Given the description of an element on the screen output the (x, y) to click on. 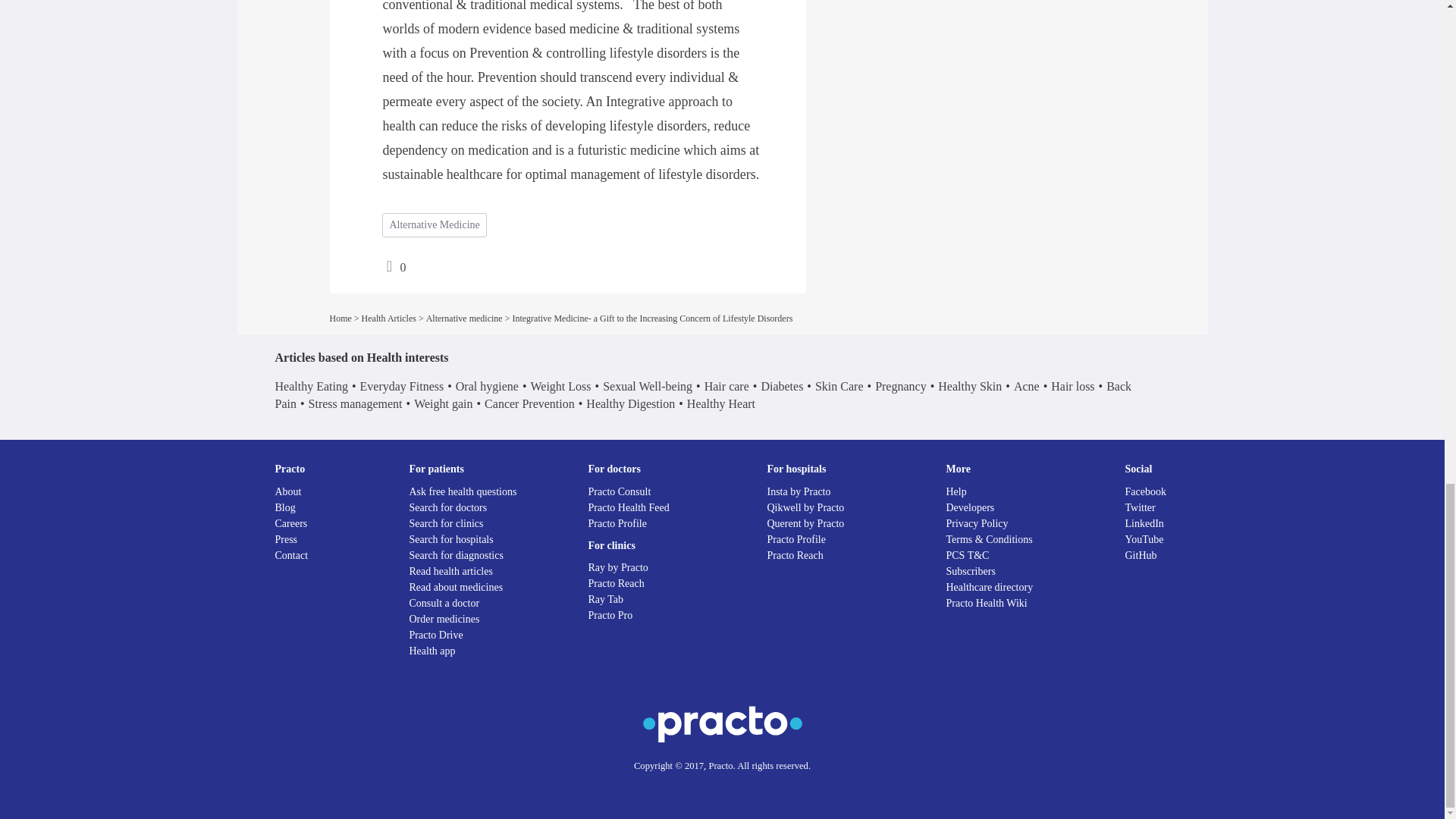
Acne (1026, 386)
Order medicines (444, 618)
Search for doctors (448, 507)
Everyday Fitness (401, 386)
Alternative medicine (464, 317)
Careers (291, 523)
Home (339, 317)
Consult a doctor (444, 603)
Health Articles (388, 317)
Search for diagnostics (456, 555)
